Given the description of an element on the screen output the (x, y) to click on. 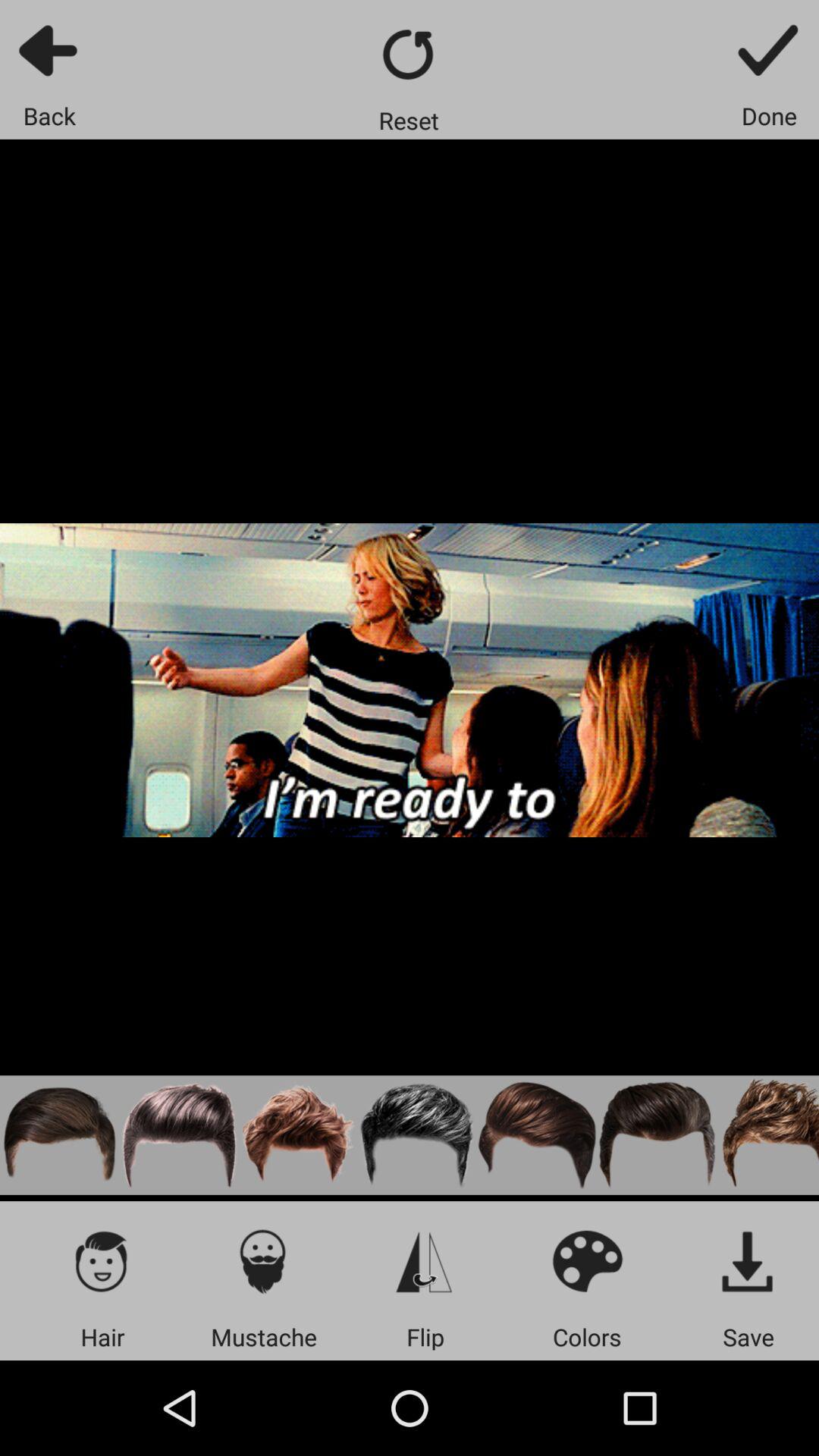
reset button (408, 54)
